Given the description of an element on the screen output the (x, y) to click on. 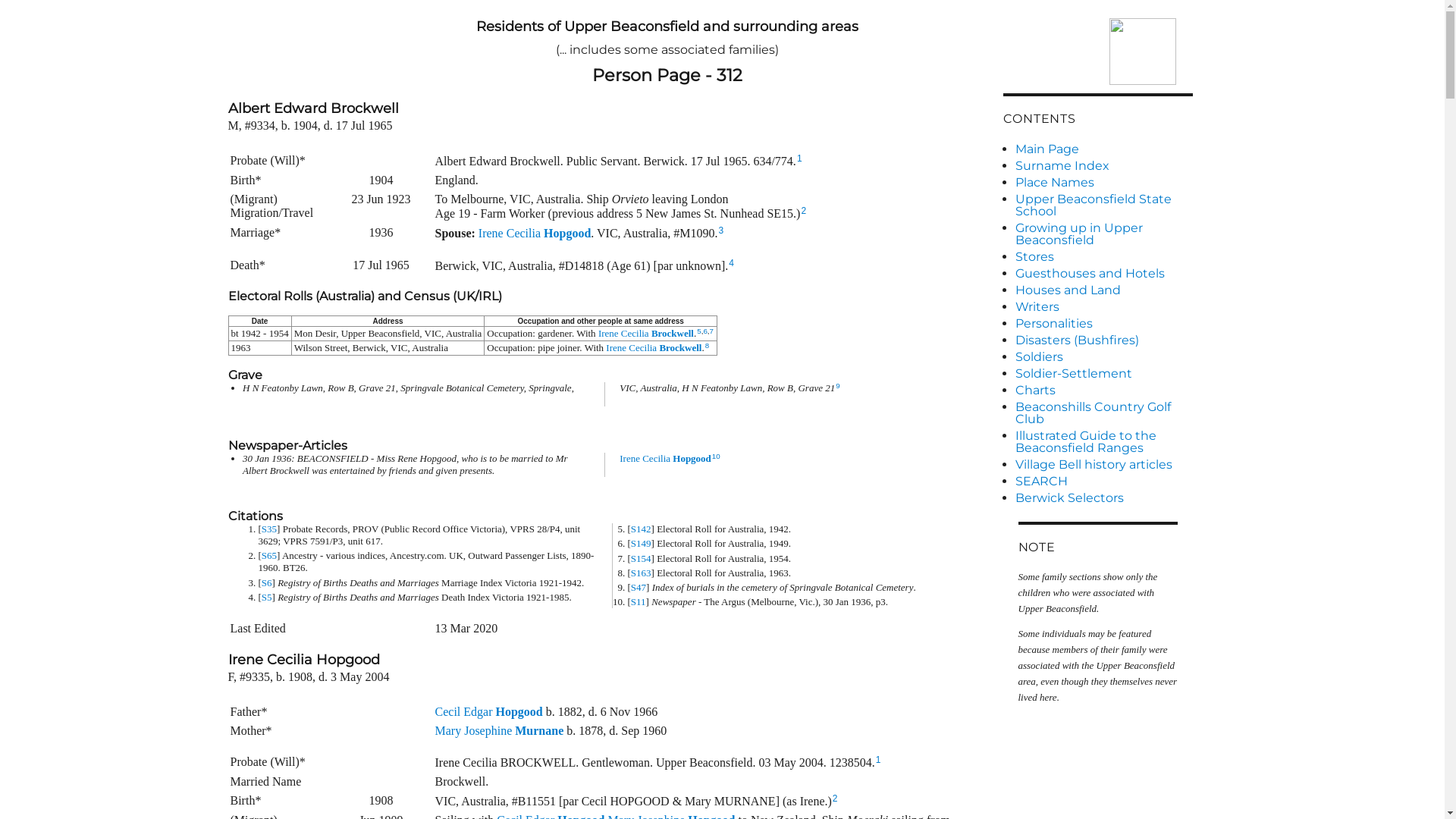
Surname Index Element type: text (1103, 165)
Irene Cecilia Hopgood Element type: text (534, 231)
S163 Element type: text (640, 572)
Cecil Edgar Hopgood Element type: text (488, 711)
1 Element type: text (878, 759)
S47 Element type: text (638, 587)
Guesthouses and Hotels Element type: text (1103, 273)
Place Names Element type: text (1103, 182)
Soldier-Settlement Element type: text (1103, 373)
3 Element type: text (721, 230)
S142 Element type: text (640, 528)
Irene Cecilia Brockwell Element type: text (645, 332)
Beaconshills Country Golf Club Element type: text (1103, 412)
10 Element type: text (716, 455)
Illustrated Guide to the Beaconsfield Ranges Element type: text (1103, 441)
S65 Element type: text (268, 555)
Irene Cecilia Hopgood Element type: text (665, 458)
Charts Element type: text (1103, 390)
Irene Cecilia Brockwell Element type: text (653, 347)
S149 Element type: text (640, 543)
9 Element type: text (837, 385)
S11 Element type: text (638, 601)
S35 Element type: text (268, 528)
4 Element type: text (731, 262)
Stores Element type: text (1103, 256)
Personalities Element type: text (1103, 323)
Village Bell history articles Element type: text (1103, 464)
Soldiers Element type: text (1103, 356)
Houses and Land Element type: text (1103, 290)
Writers Element type: text (1103, 306)
SEARCH Element type: text (1103, 481)
2 Element type: text (803, 210)
Main Page Element type: text (1103, 149)
S6 Element type: text (266, 582)
S5 Element type: text (266, 596)
Mary Josephine Murnane Element type: text (499, 730)
5 Element type: text (698, 330)
Growing up in Upper Beaconsfield Element type: text (1103, 233)
Berwick Selectors Element type: text (1103, 497)
2 Element type: text (834, 798)
1 Element type: text (799, 158)
6 Element type: text (704, 330)
8 Element type: text (707, 345)
Upper Beaconsfield State School Element type: text (1103, 205)
S154 Element type: text (640, 558)
Disasters (Bushfires) Element type: text (1103, 340)
7 Element type: text (711, 330)
